Given the description of an element on the screen output the (x, y) to click on. 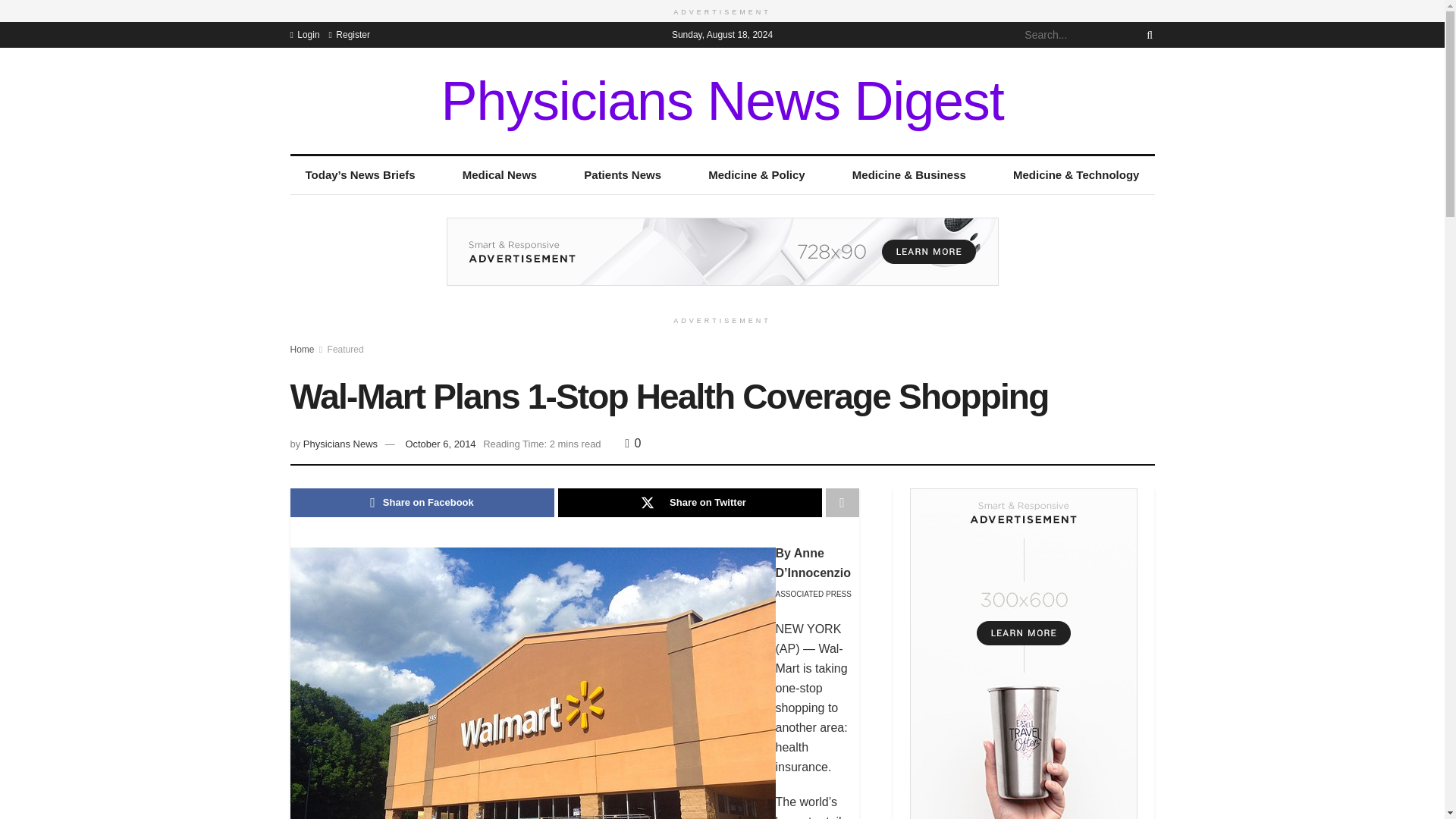
0 (632, 442)
Login (303, 33)
Medical News (499, 175)
Register (349, 33)
Physicians News (339, 443)
Physicians News Digest (722, 99)
Share on Twitter (689, 502)
October 6, 2014 (440, 443)
Featured (345, 348)
Patients News (623, 175)
